Given the description of an element on the screen output the (x, y) to click on. 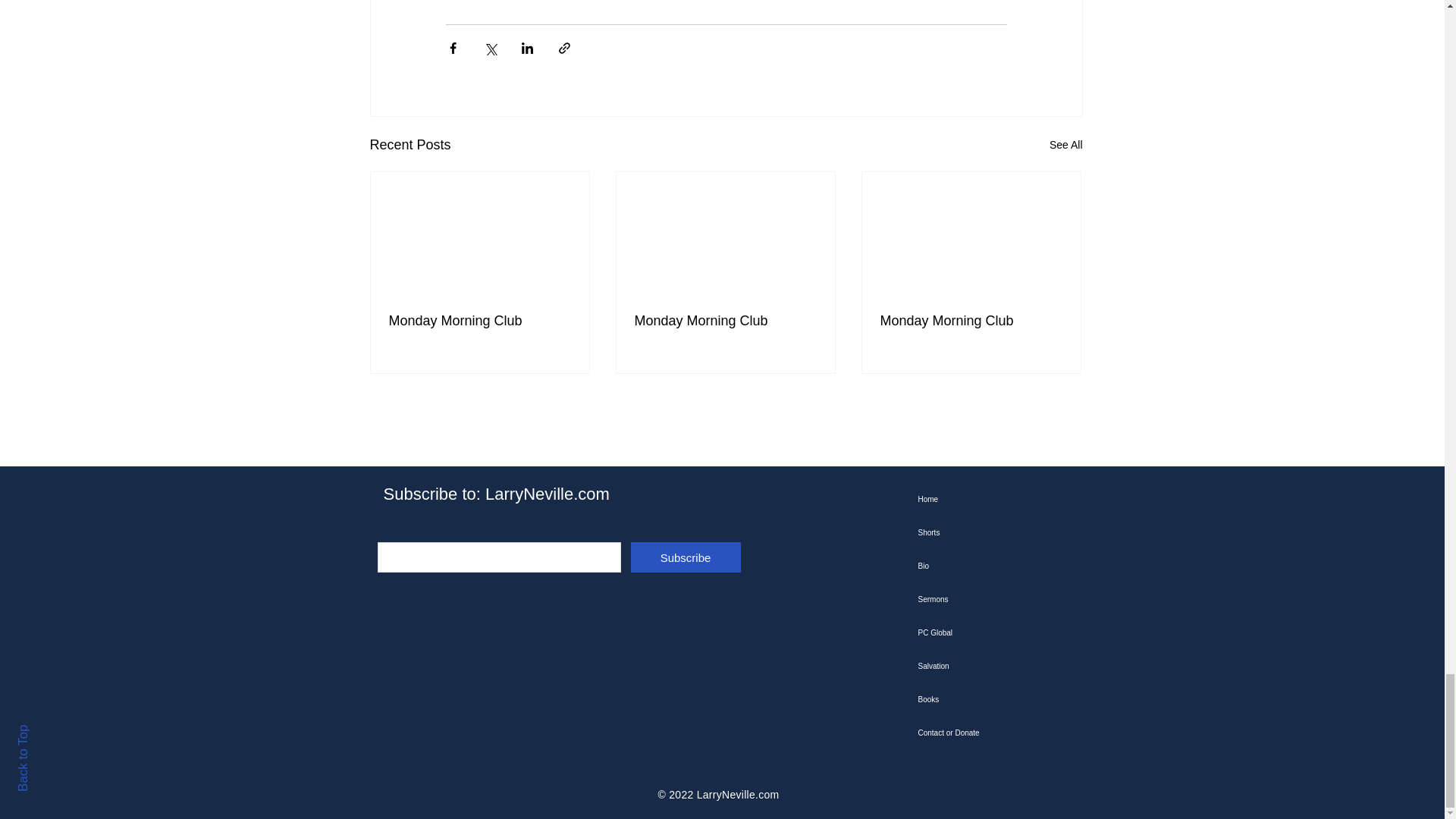
Shorts (994, 532)
PC Global (994, 633)
See All (1066, 145)
Bio (994, 566)
Sermons (994, 599)
Monday Morning Club (970, 320)
Contact or Donate (994, 733)
Books (994, 699)
Subscribe (685, 557)
Monday Morning Club (724, 320)
Monday Morning Club (479, 320)
Salvation (994, 666)
Home (994, 499)
